Given the description of an element on the screen output the (x, y) to click on. 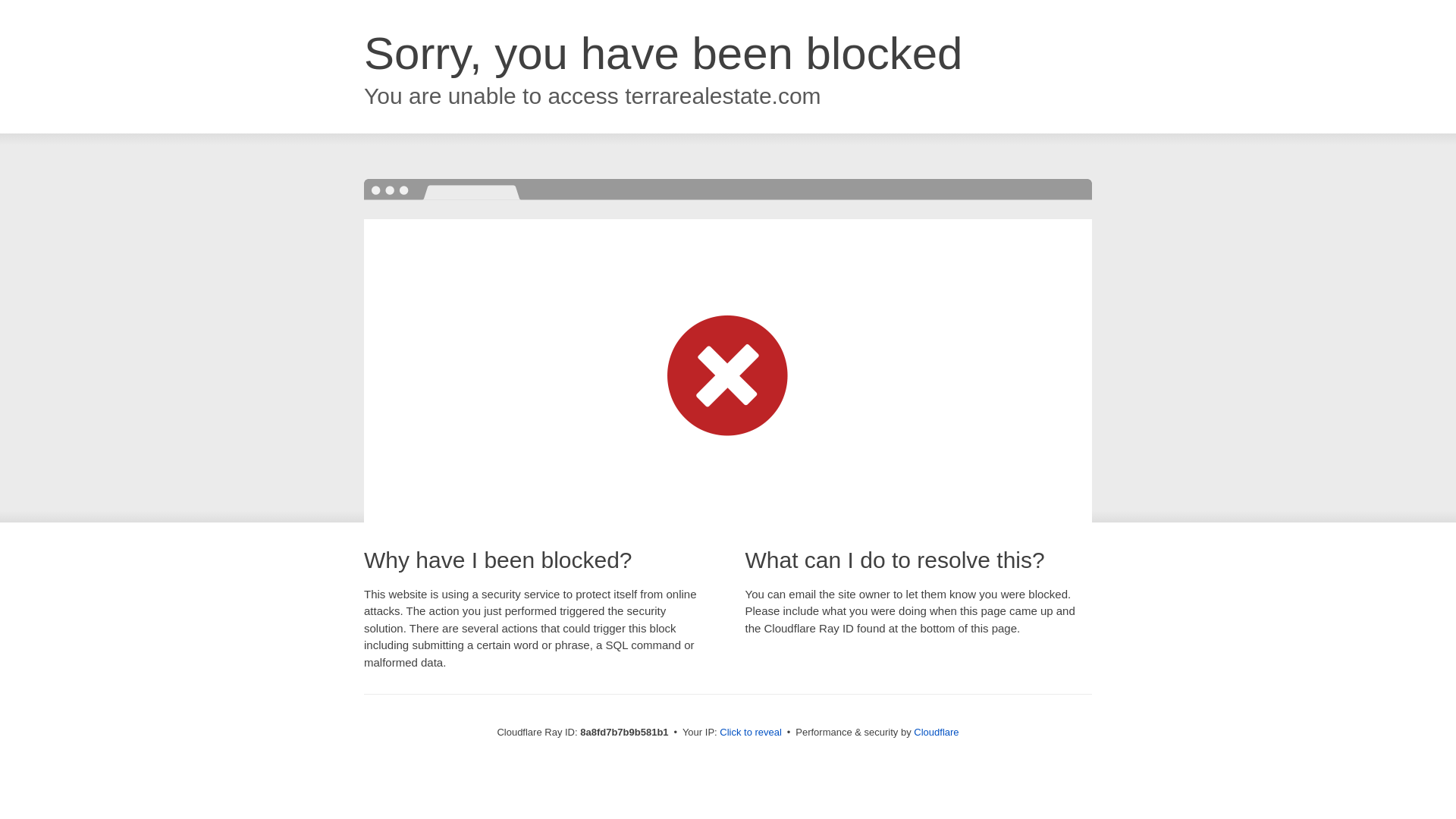
Click to reveal (750, 732)
Cloudflare (936, 731)
